Given the description of an element on the screen output the (x, y) to click on. 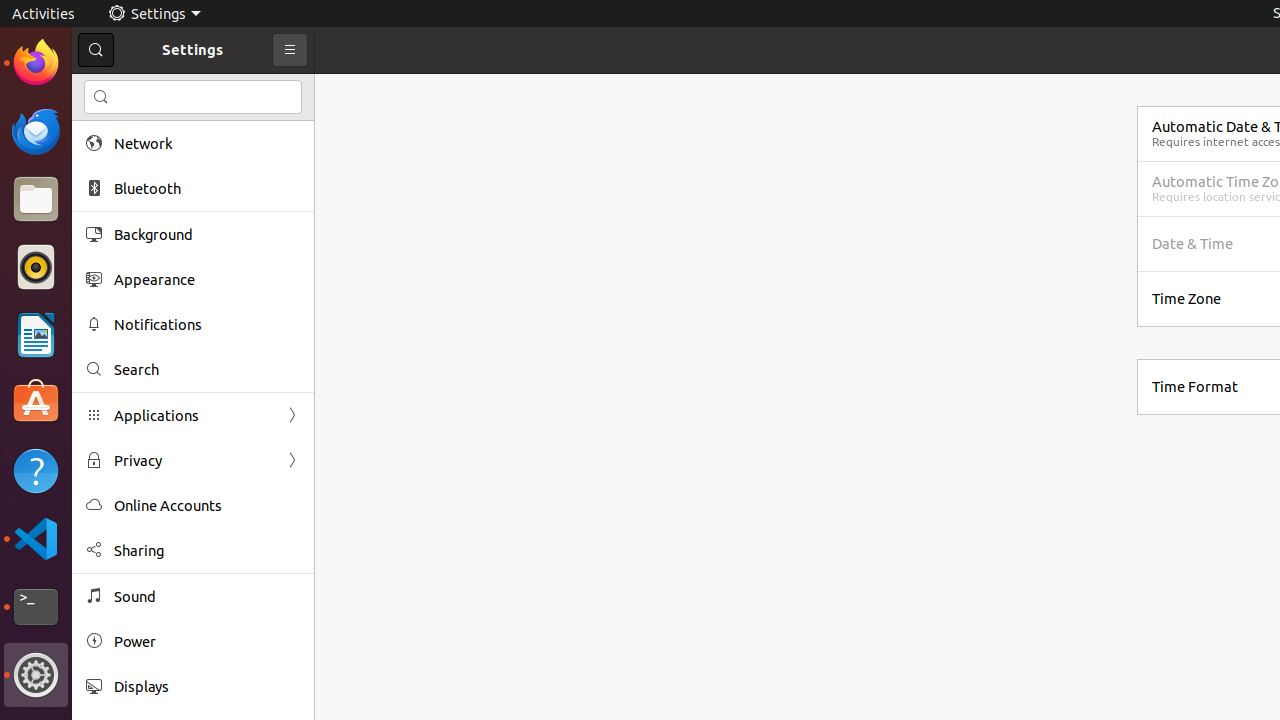
li.txt Element type: label (259, 89)
Time Zone Element type: label (1186, 298)
Settings Element type: push-button (36, 675)
